Given the description of an element on the screen output the (x, y) to click on. 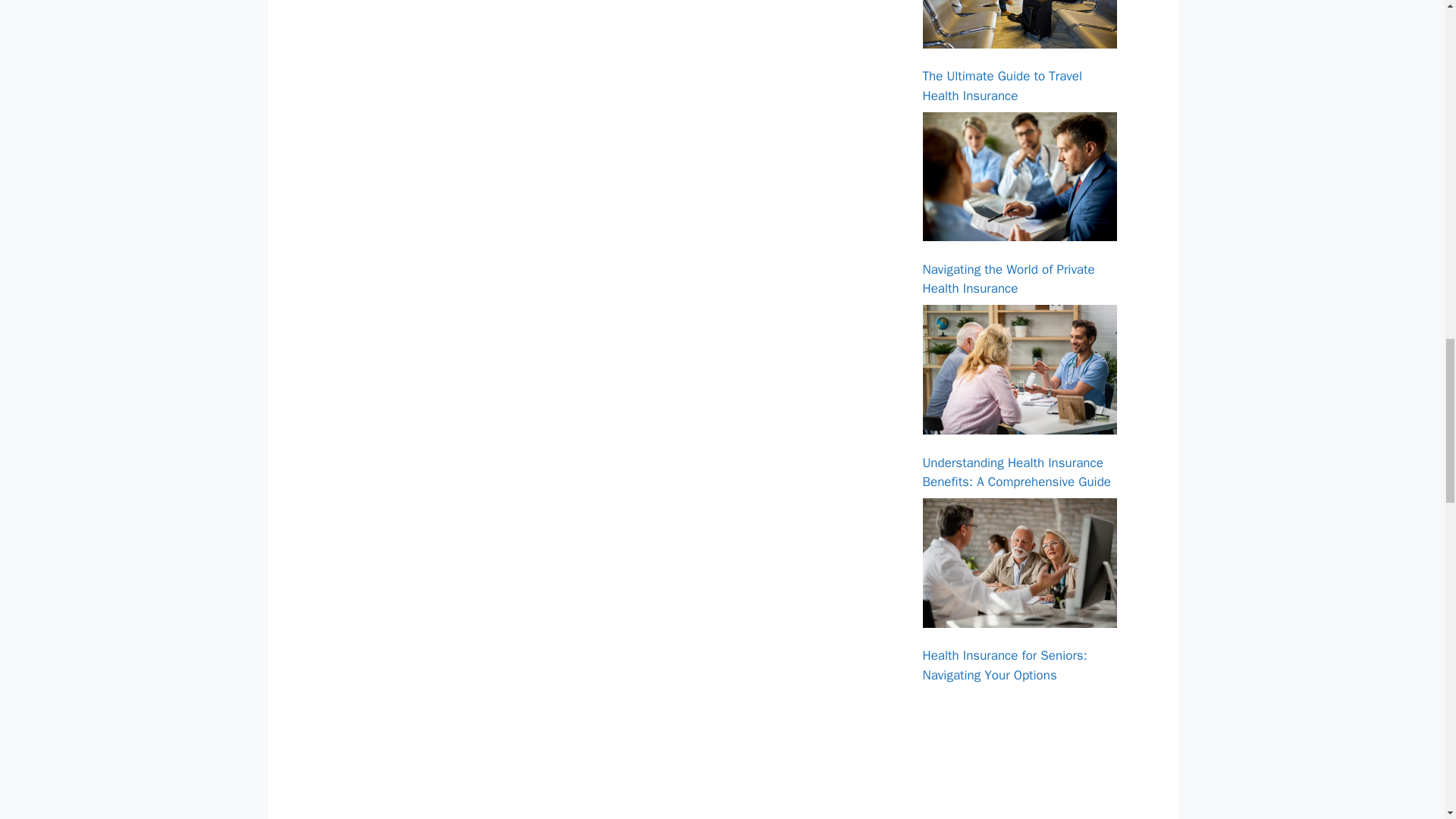
The Ultimate Guide to Travel Health Insurance (1018, 24)
Health Insurance for Seniors: Navigating Your Options (1018, 562)
Navigating the World of Private Health Insurance (1007, 279)
The Ultimate Guide to Travel Health Insurance (1001, 85)
Health Insurance for Seniors: Navigating Your Options (1003, 665)
Navigating the World of Private Health Insurance (1018, 176)
